Given the description of an element on the screen output the (x, y) to click on. 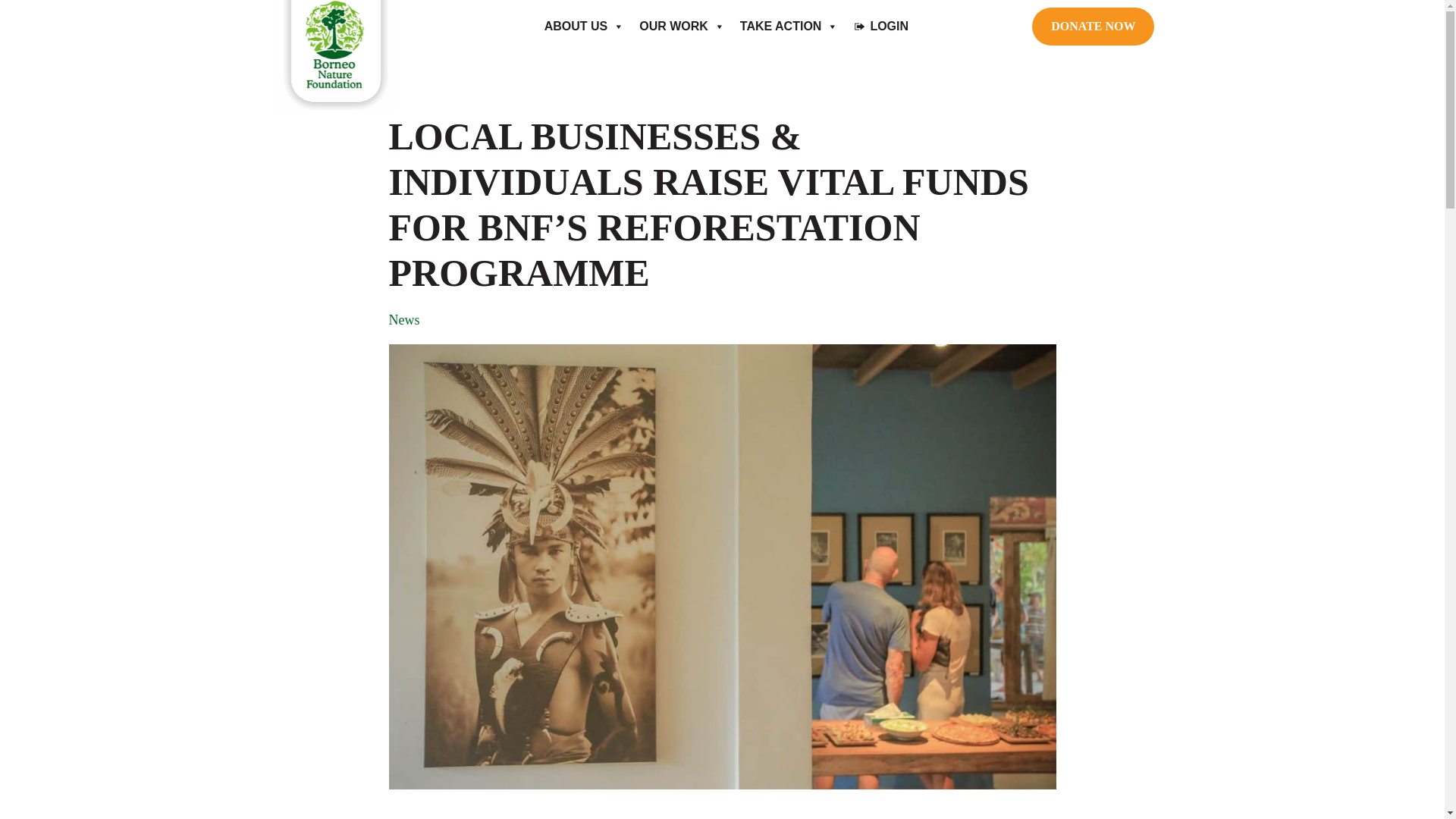
DONATE NOW (1093, 26)
LOGIN (880, 26)
ABOUT US (584, 26)
Search (18, 20)
OUR WORK (681, 26)
TAKE ACTION (788, 26)
